Given the description of an element on the screen output the (x, y) to click on. 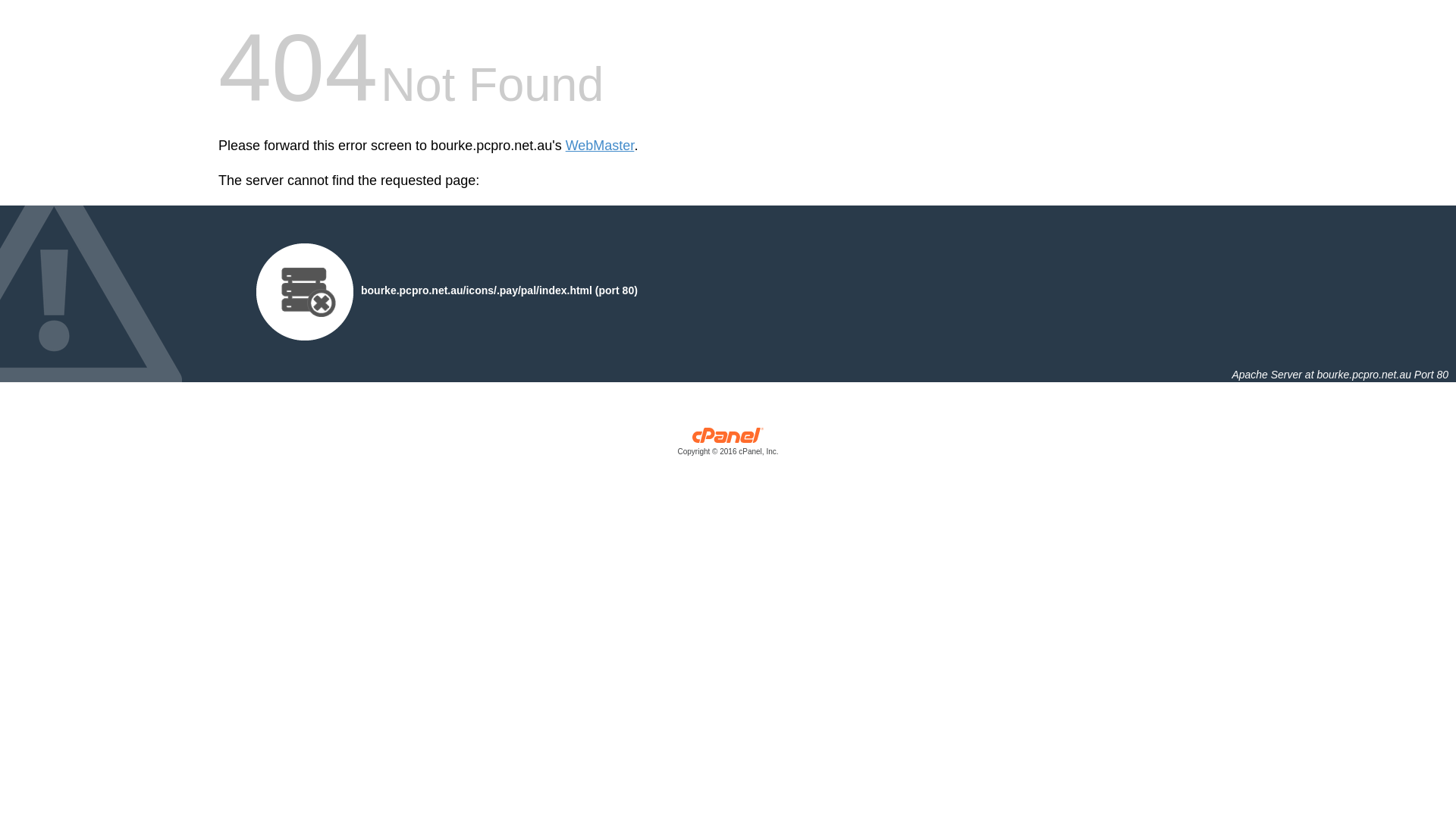
WebMaster Element type: text (599, 145)
